Given the description of an element on the screen output the (x, y) to click on. 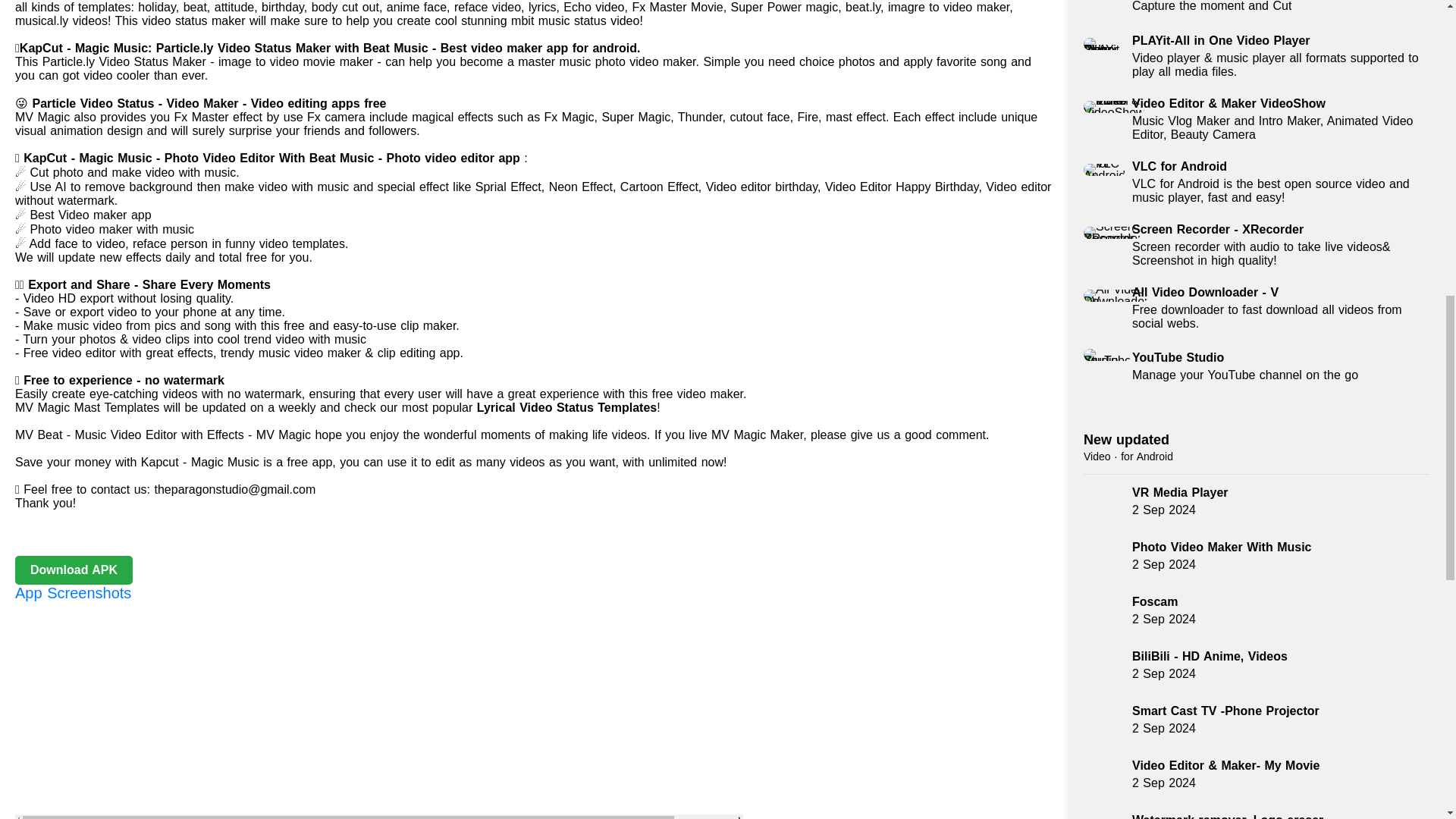
New updated (1256, 366)
Download KapCut - Magic Video Maker APK (1126, 439)
Download APK (73, 570)
